Given the description of an element on the screen output the (x, y) to click on. 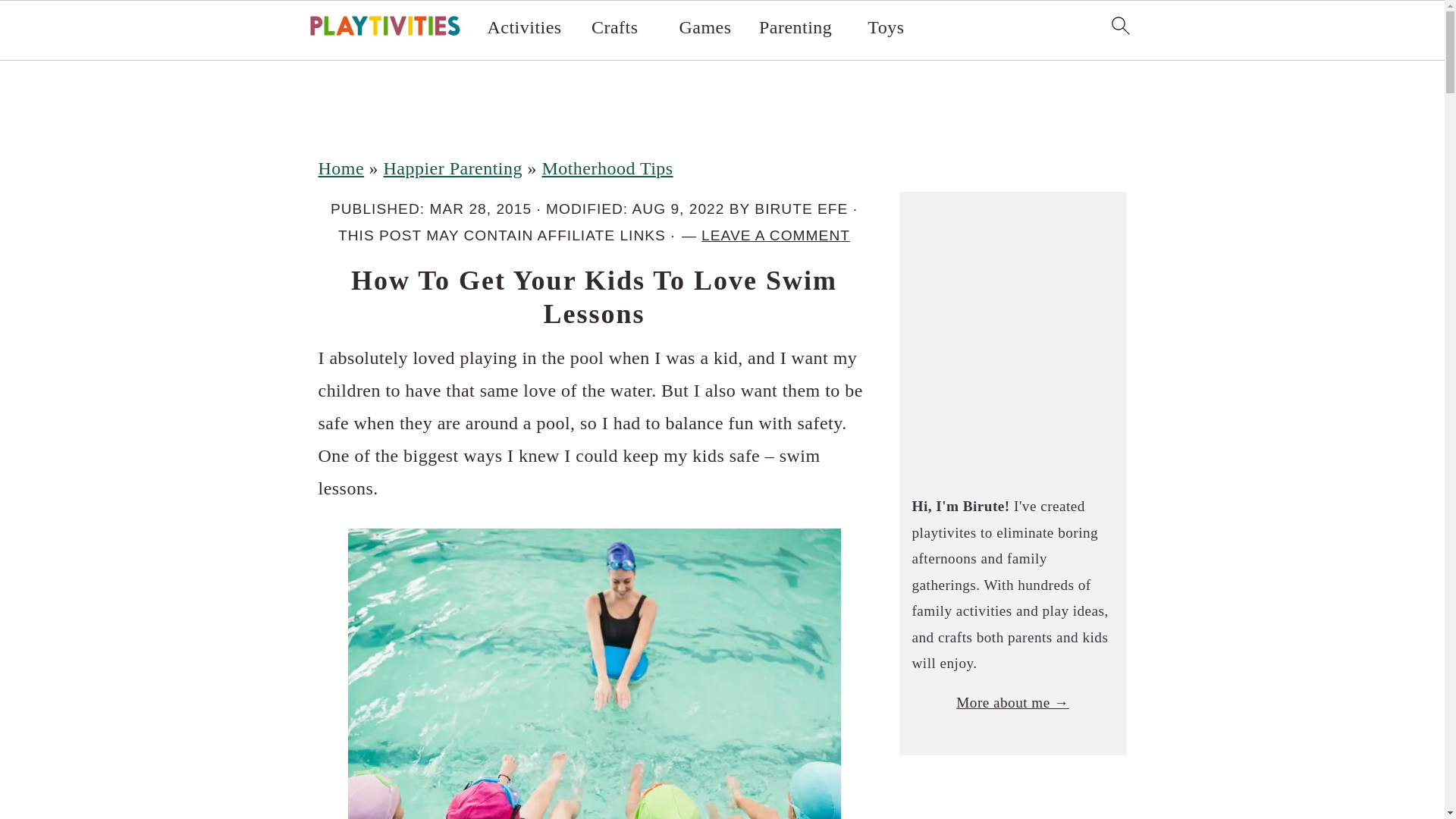
search icon (1119, 25)
Crafts (615, 27)
Activities (524, 27)
Parenting (794, 27)
Toys (885, 27)
Games (704, 27)
